Given the description of an element on the screen output the (x, y) to click on. 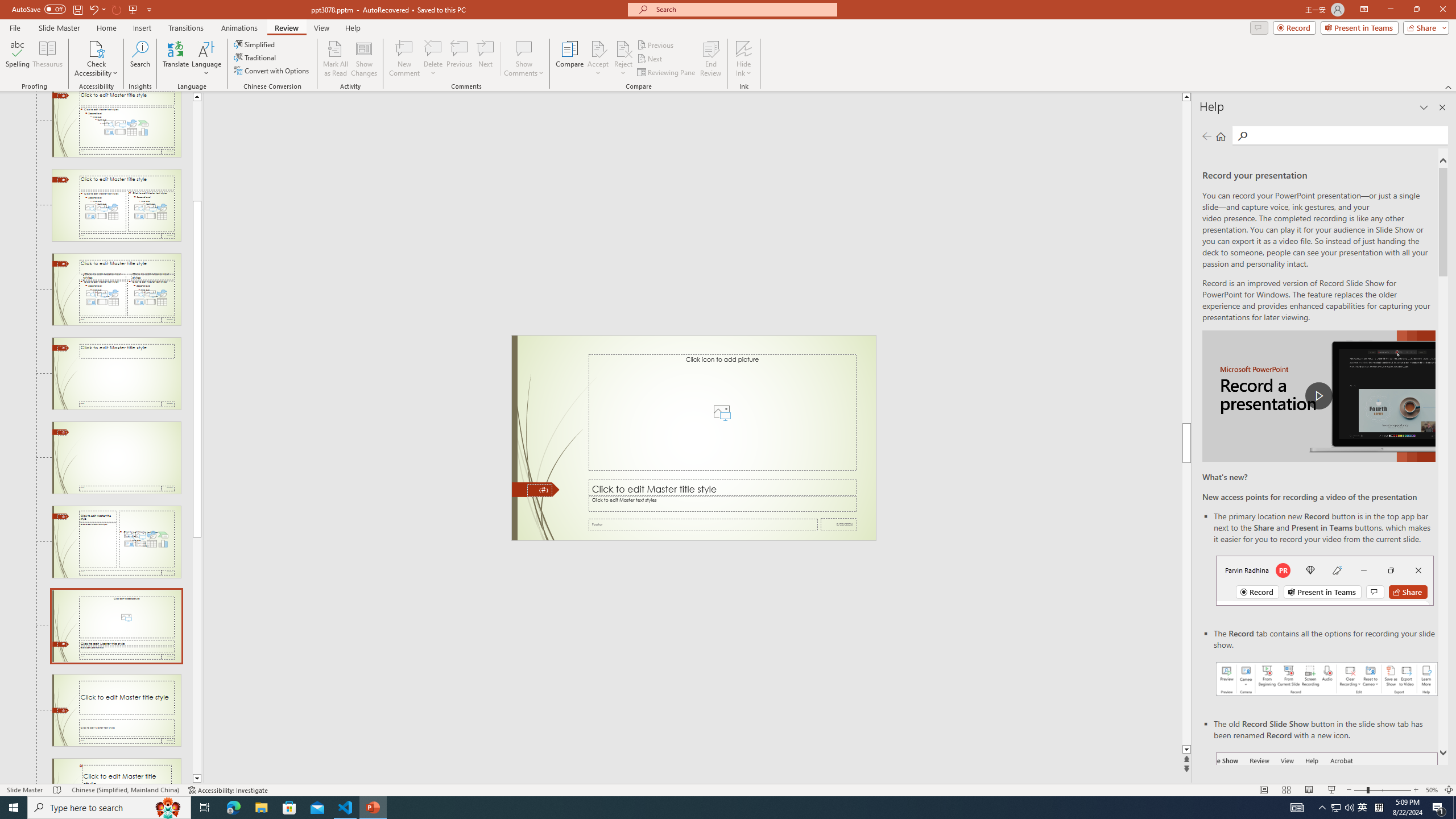
Convert with Options... (272, 69)
Date (839, 524)
Compare (569, 58)
Language (206, 58)
New Comment (403, 58)
play Record a Presentation (1318, 395)
Next (649, 58)
Slide Number (539, 490)
